Given the description of an element on the screen output the (x, y) to click on. 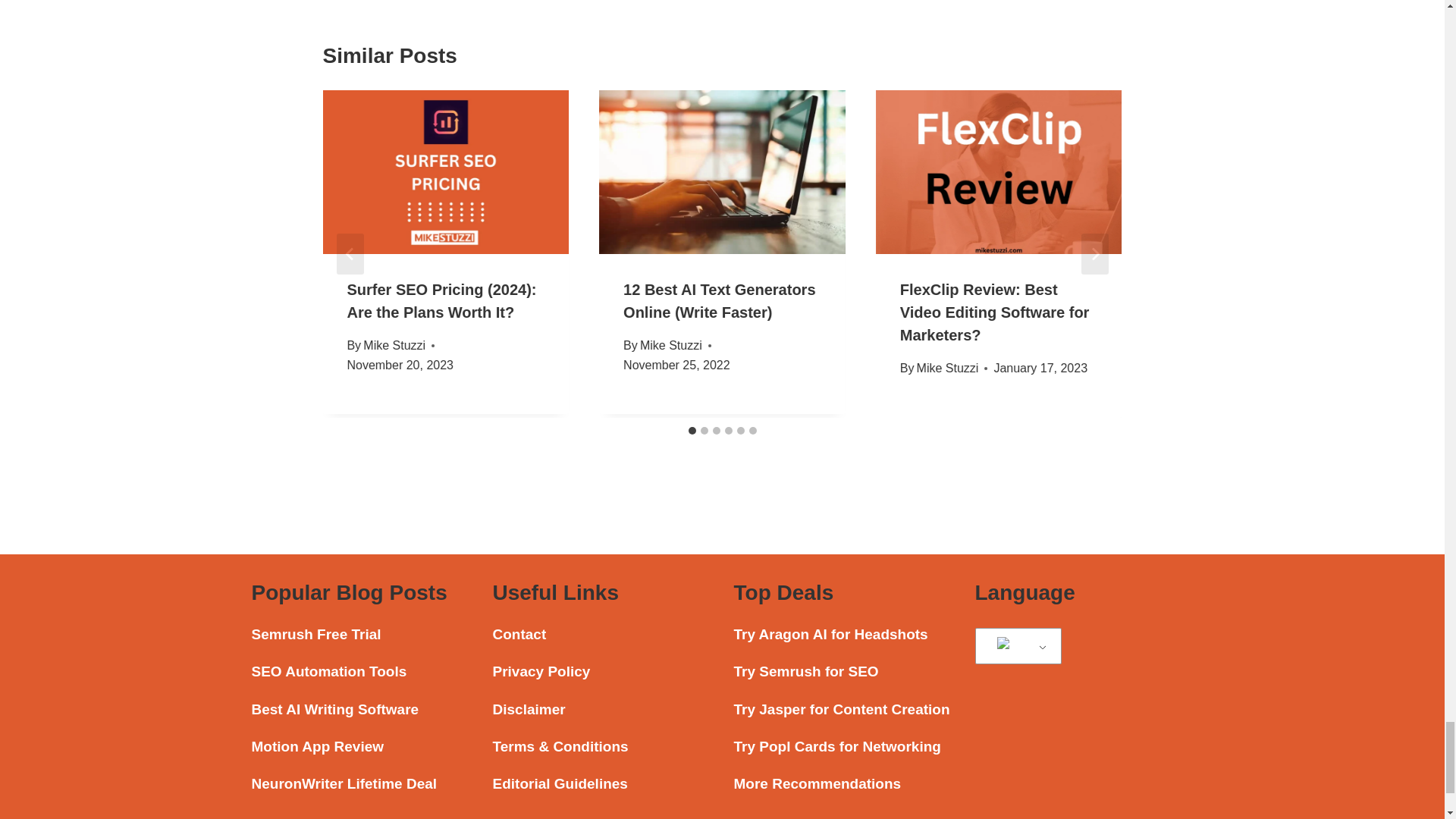
English (1015, 646)
English (1014, 646)
